Given the description of an element on the screen output the (x, y) to click on. 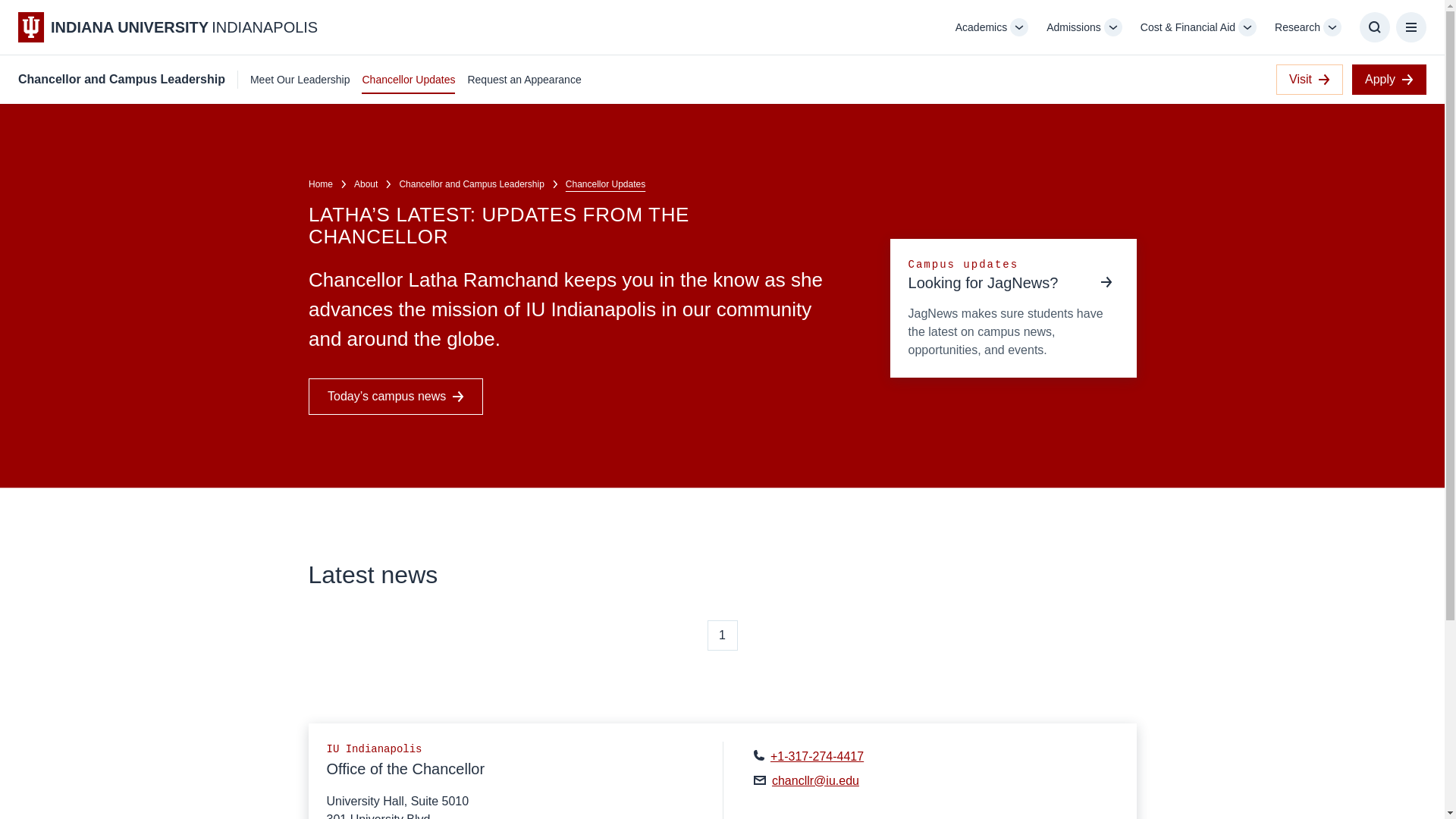
Menu (1411, 27)
Visit (1309, 79)
Academics (981, 27)
Chancellor and Campus Leadership (121, 79)
Request an Appearance (523, 78)
Chancellor Updates (407, 78)
Meet Our Leadership (300, 78)
Admissions (1073, 27)
More "Admissions" (1112, 27)
Research (1297, 27)
Apply (1389, 79)
Chancellor and Campus Leadership (470, 183)
About (365, 183)
Search (1374, 27)
Home (319, 183)
